Given the description of an element on the screen output the (x, y) to click on. 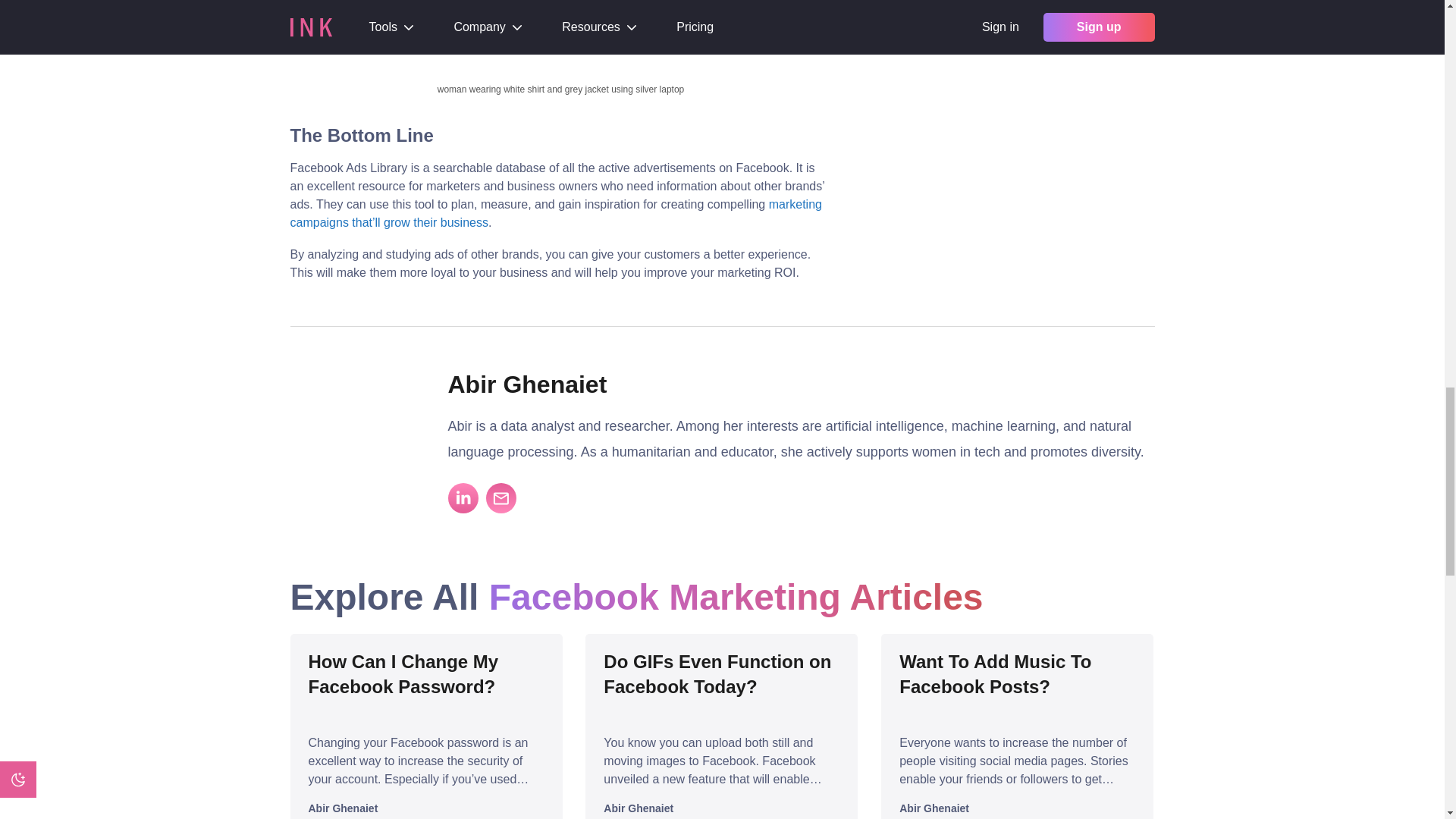
Email Abir Ghenaiet (499, 498)
Abir Ghenaiet LinkedIn (461, 498)
